Given the description of an element on the screen output the (x, y) to click on. 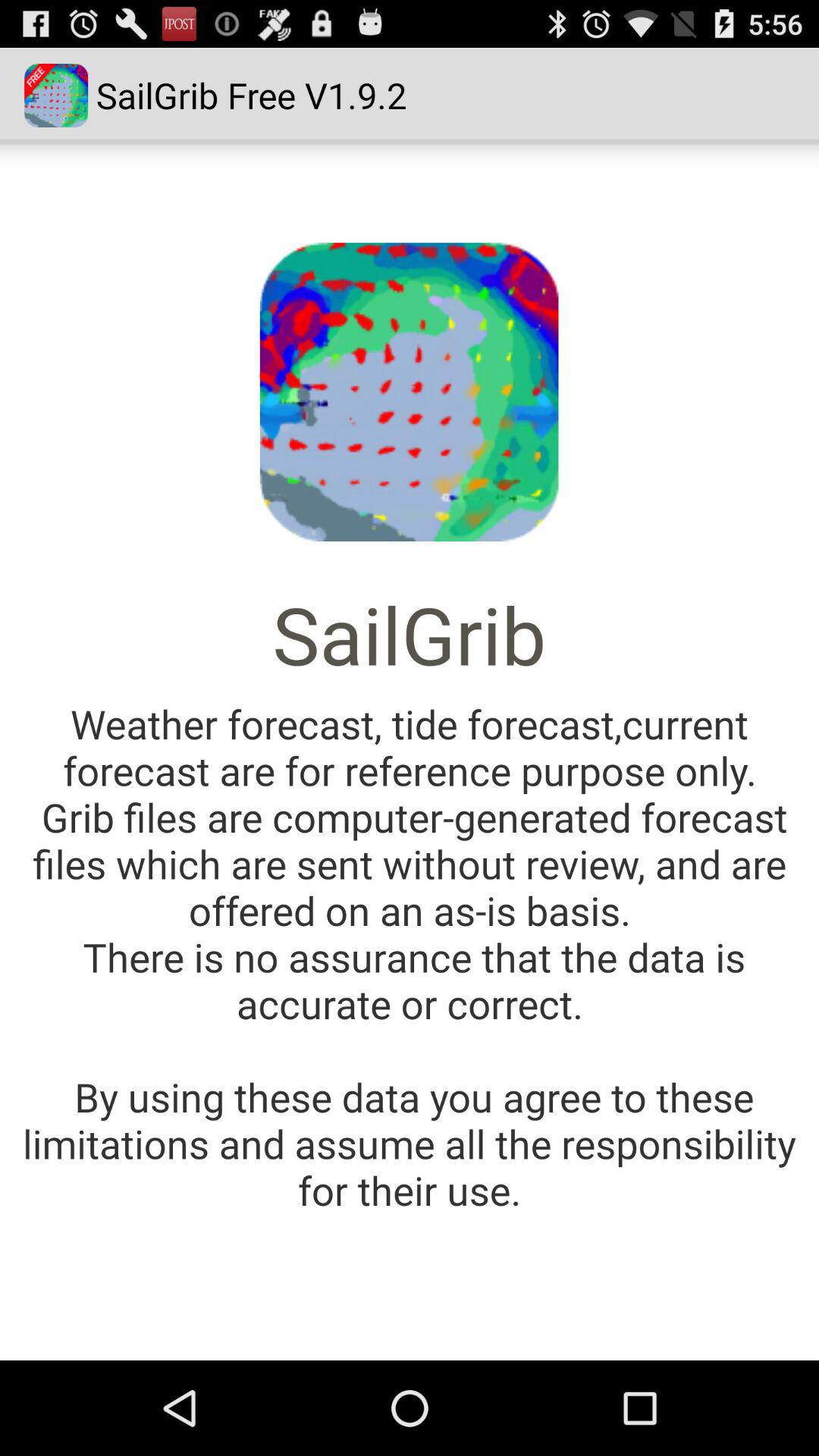
turn off the icon below sailgrib icon (409, 956)
